Given the description of an element on the screen output the (x, y) to click on. 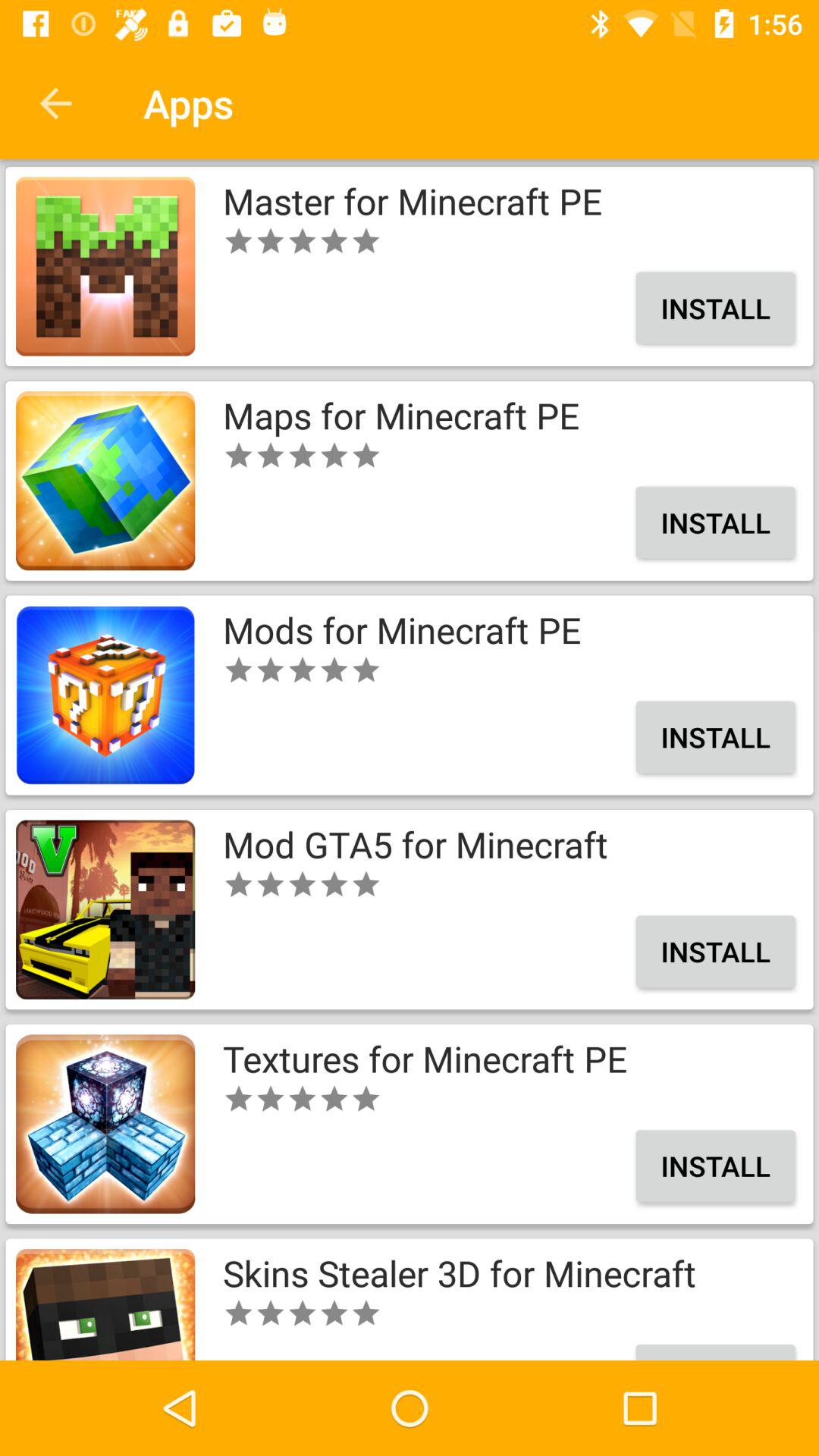
click on install which is under maps for minecraft pe (715, 522)
